Given the description of an element on the screen output the (x, y) to click on. 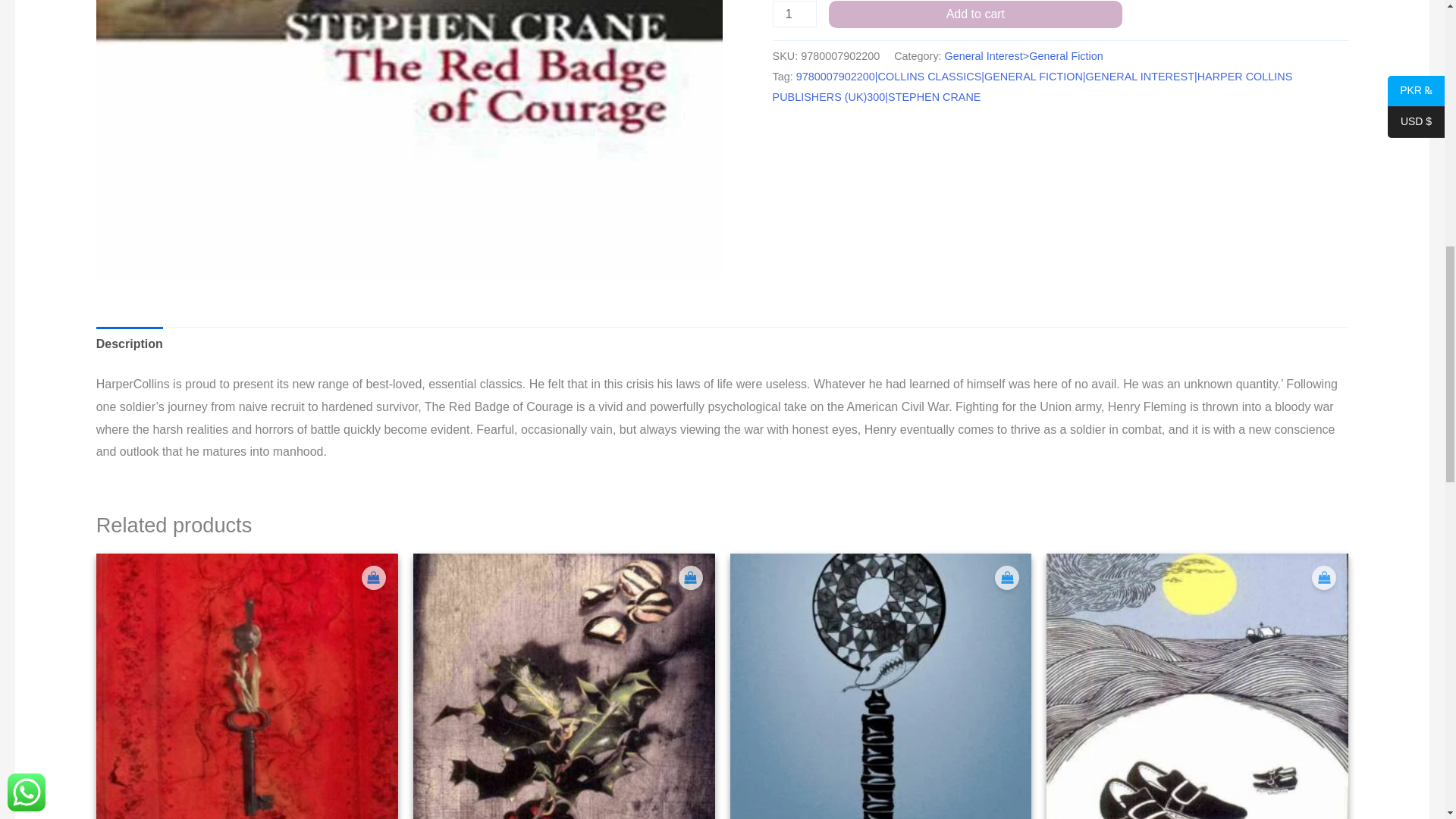
Add to cart (975, 13)
1 (794, 13)
